Given the description of an element on the screen output the (x, y) to click on. 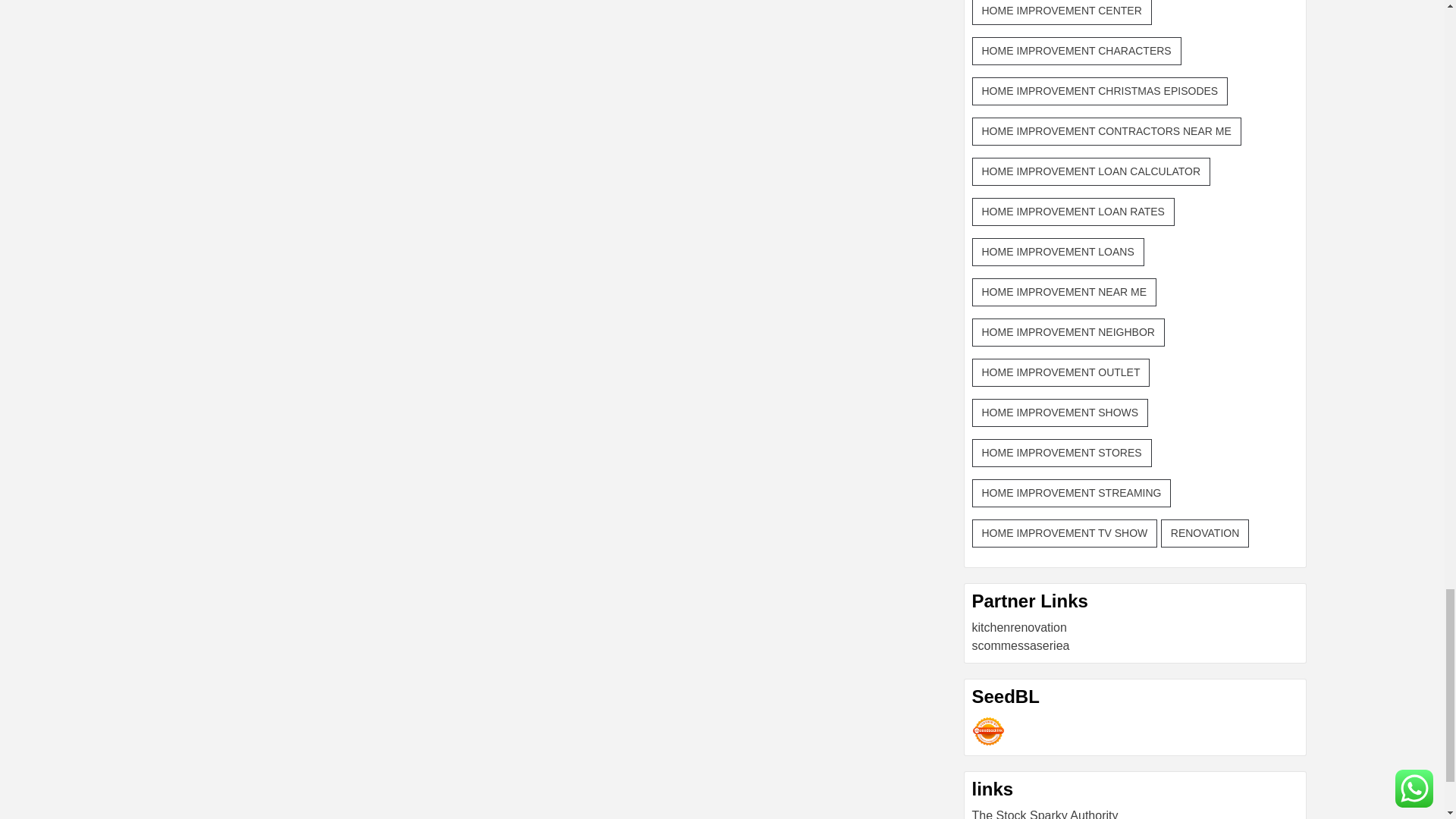
Seedbacklink (988, 730)
